Given the description of an element on the screen output the (x, y) to click on. 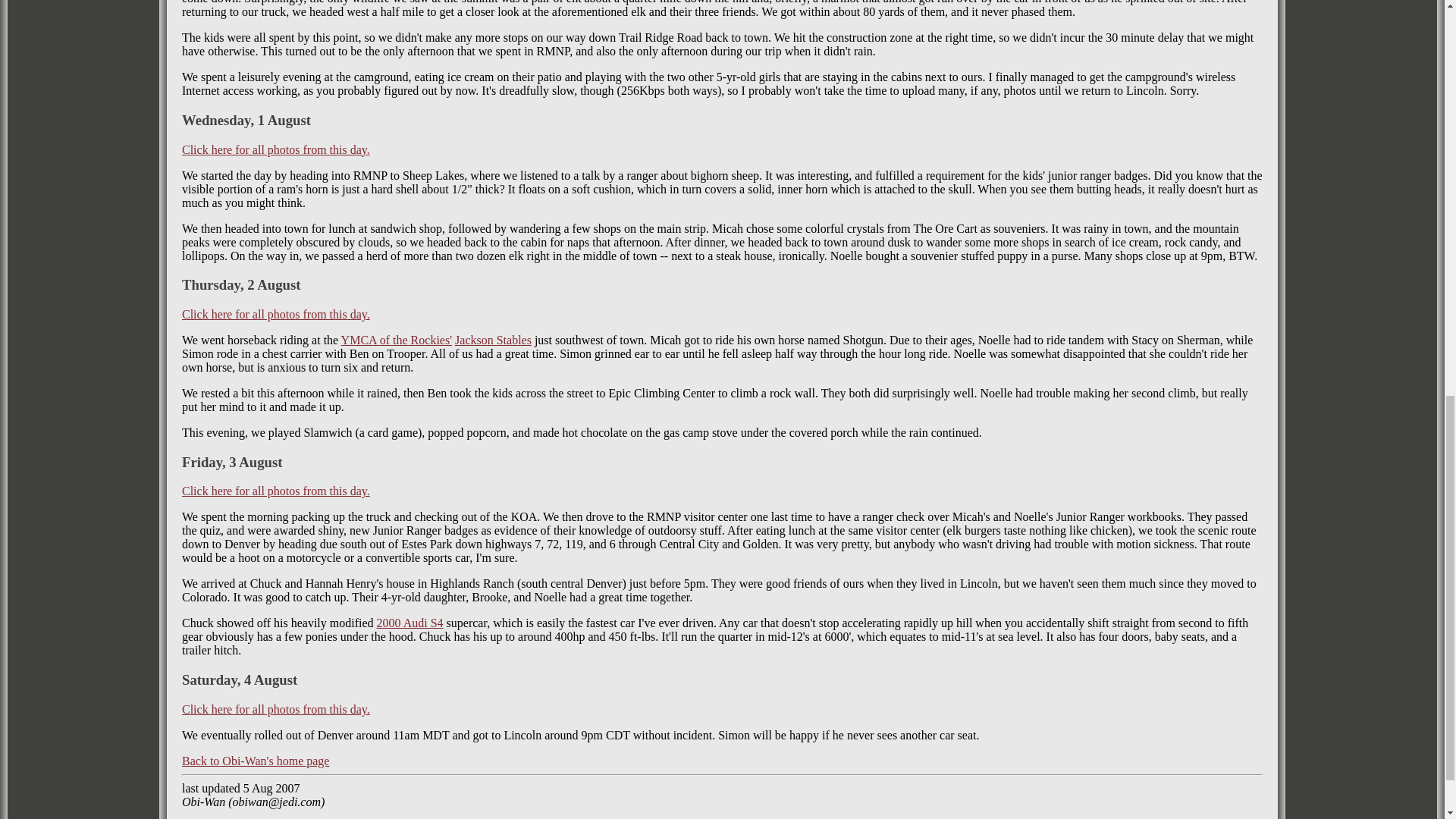
Click here for all photos from this day. (275, 490)
Click here for all photos from this day. (275, 708)
Click here for all photos from this day. (275, 149)
Click here for all photos from this day. (275, 314)
Jackson Stables (492, 339)
Back to Obi-Wan's home page (255, 760)
YMCA of the Rockies' (395, 339)
2000 Audi S4 (410, 622)
